Given the description of an element on the screen output the (x, y) to click on. 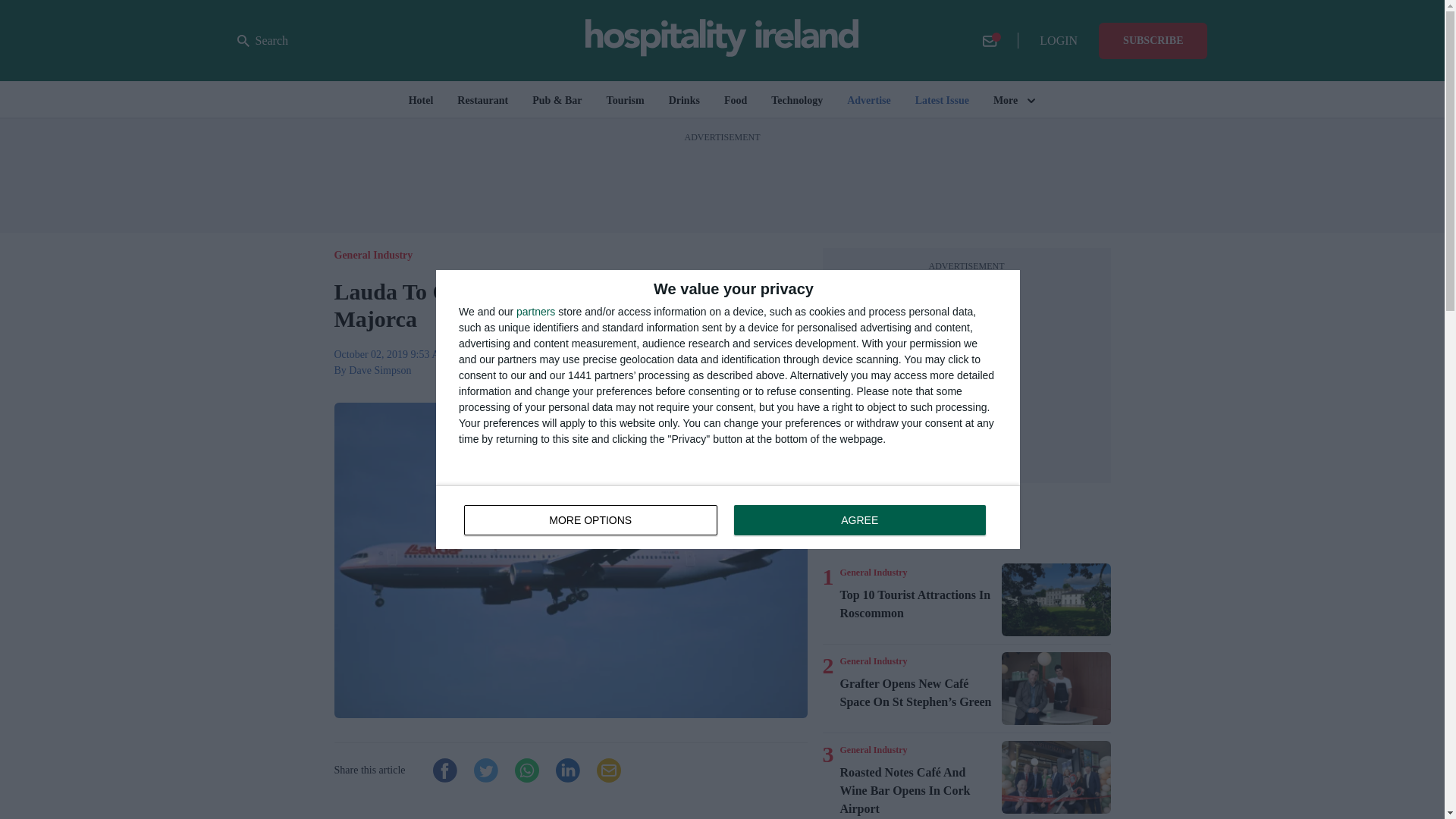
General Industry (873, 749)
General Industry (727, 516)
Top 10 Tourist Attractions In Roscommon (873, 661)
Top 10 Tourist Attractions In Roscommon (917, 604)
General Industry (1055, 599)
